Given the description of an element on the screen output the (x, y) to click on. 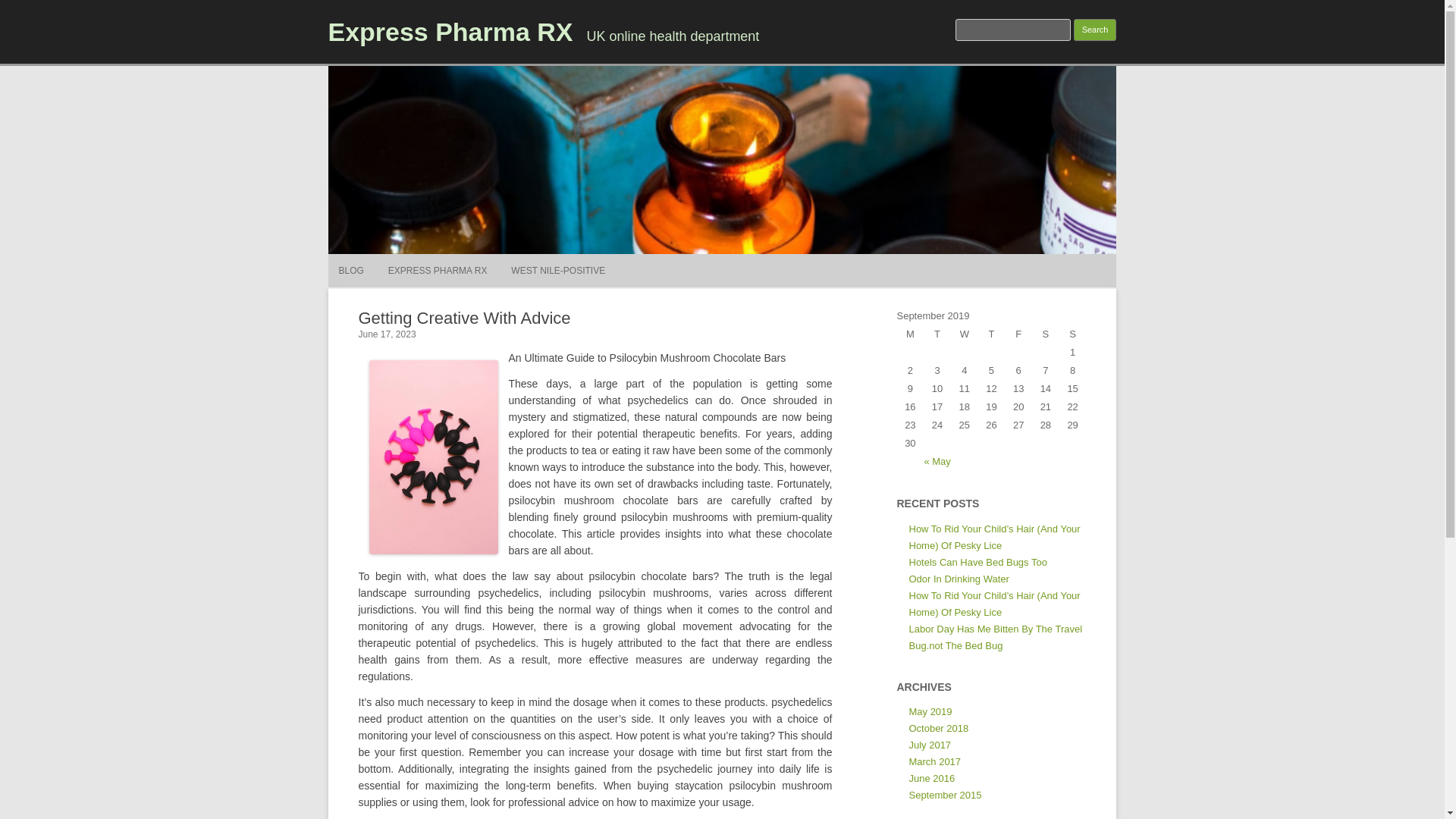
4:23 am (386, 334)
WEST NILE-POSITIVE (558, 270)
Wednesday (964, 334)
Labor Day Has Me Bitten By The Travel Bug.not The Bed Bug (994, 637)
May 2019 (930, 711)
June 17, 2023 (386, 334)
Skip to content (757, 258)
Express Pharma RX (449, 31)
Skip to content (757, 258)
Saturday (1045, 334)
